Given the description of an element on the screen output the (x, y) to click on. 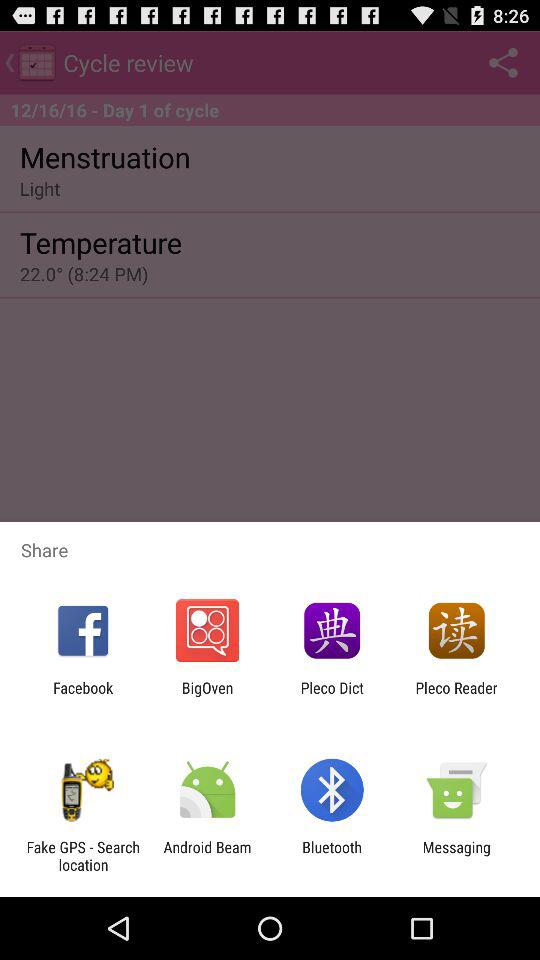
click app next to the android beam item (83, 856)
